Given the description of an element on the screen output the (x, y) to click on. 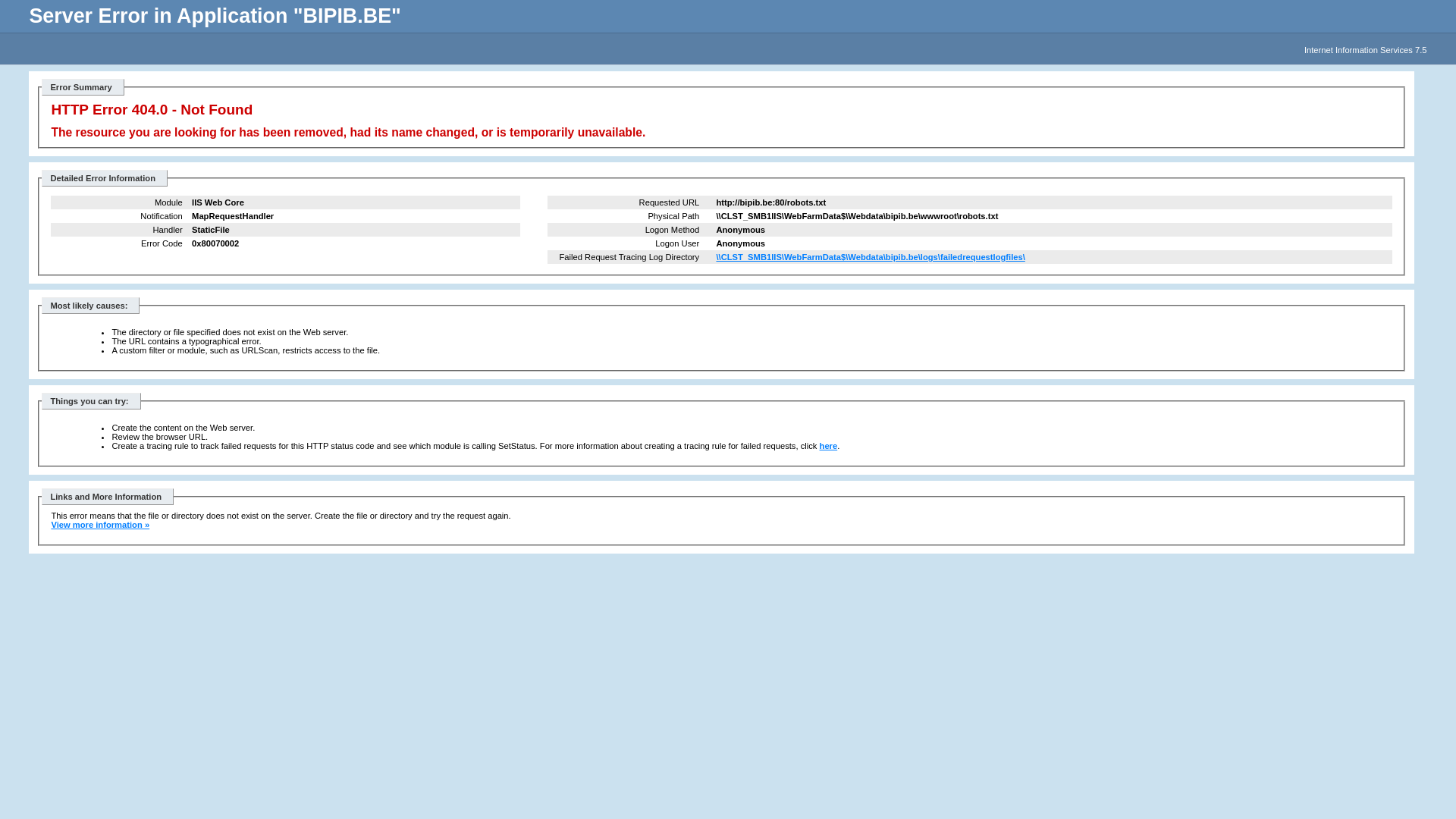
here Element type: text (828, 445)
